Given the description of an element on the screen output the (x, y) to click on. 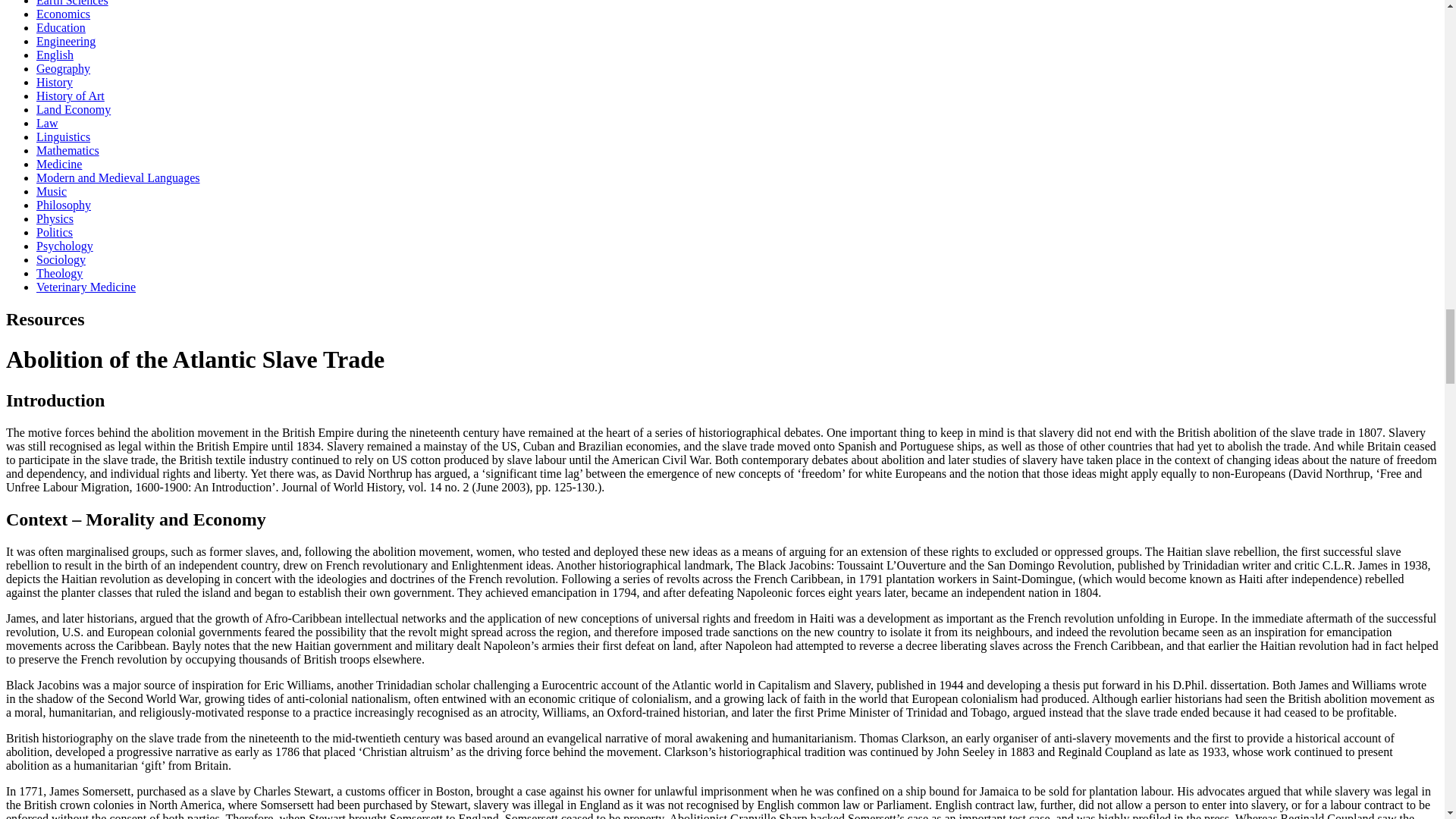
Land Economy (73, 109)
Veterinary Medicine (85, 286)
Politics (54, 232)
Philosophy (63, 205)
Physics (55, 218)
Modern and Medieval Languages (117, 177)
Engineering (66, 41)
Education (60, 27)
Theology (59, 273)
Linguistics (63, 136)
Sociology (60, 259)
Music (51, 191)
Mathematics (67, 150)
Psychology (64, 245)
Geography (63, 68)
